Given the description of an element on the screen output the (x, y) to click on. 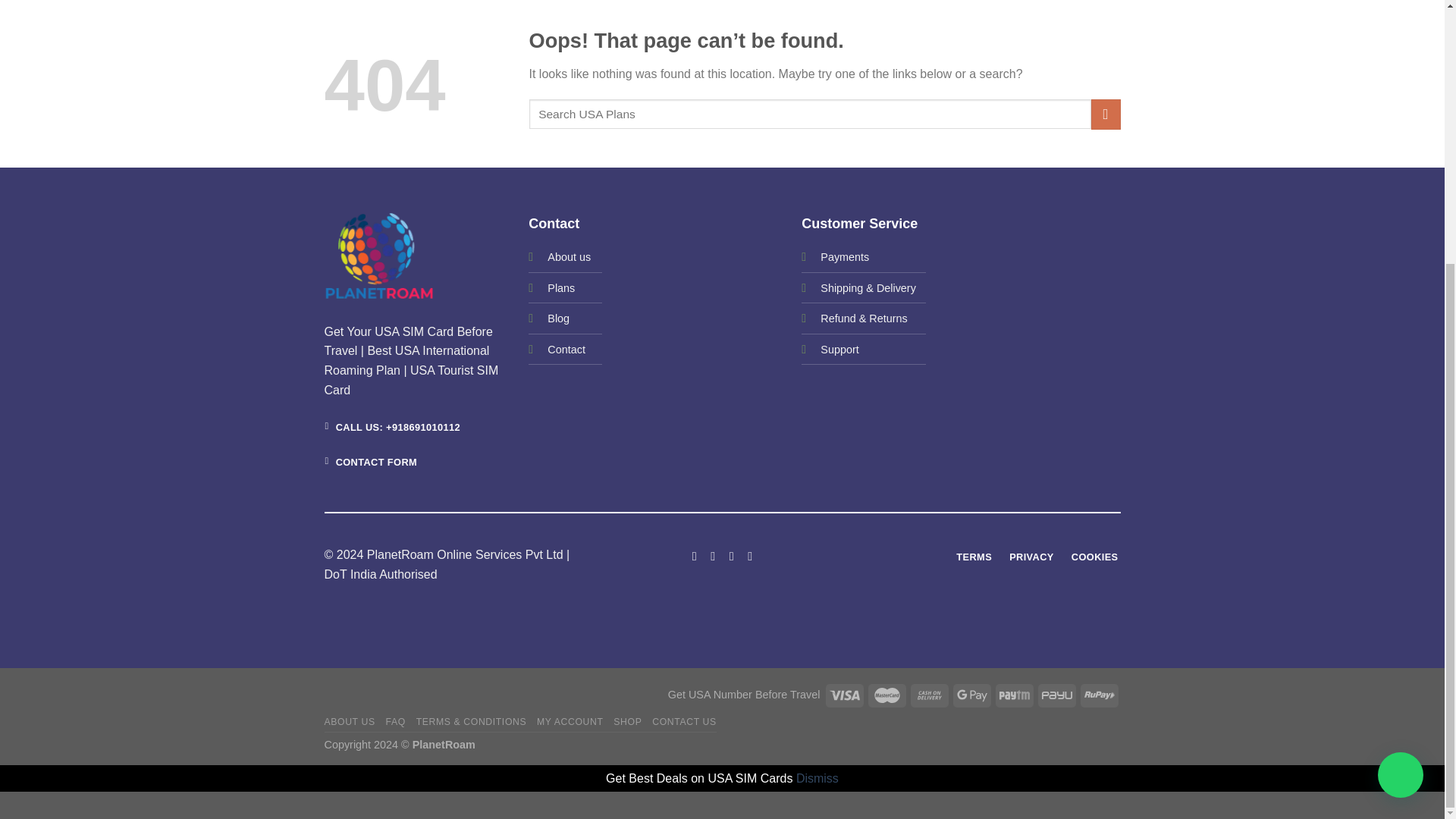
Support (840, 349)
Plans (561, 287)
About us (569, 256)
Payments (845, 256)
CONTACT FORM (371, 462)
Contact (566, 349)
Blog (558, 318)
